Given the description of an element on the screen output the (x, y) to click on. 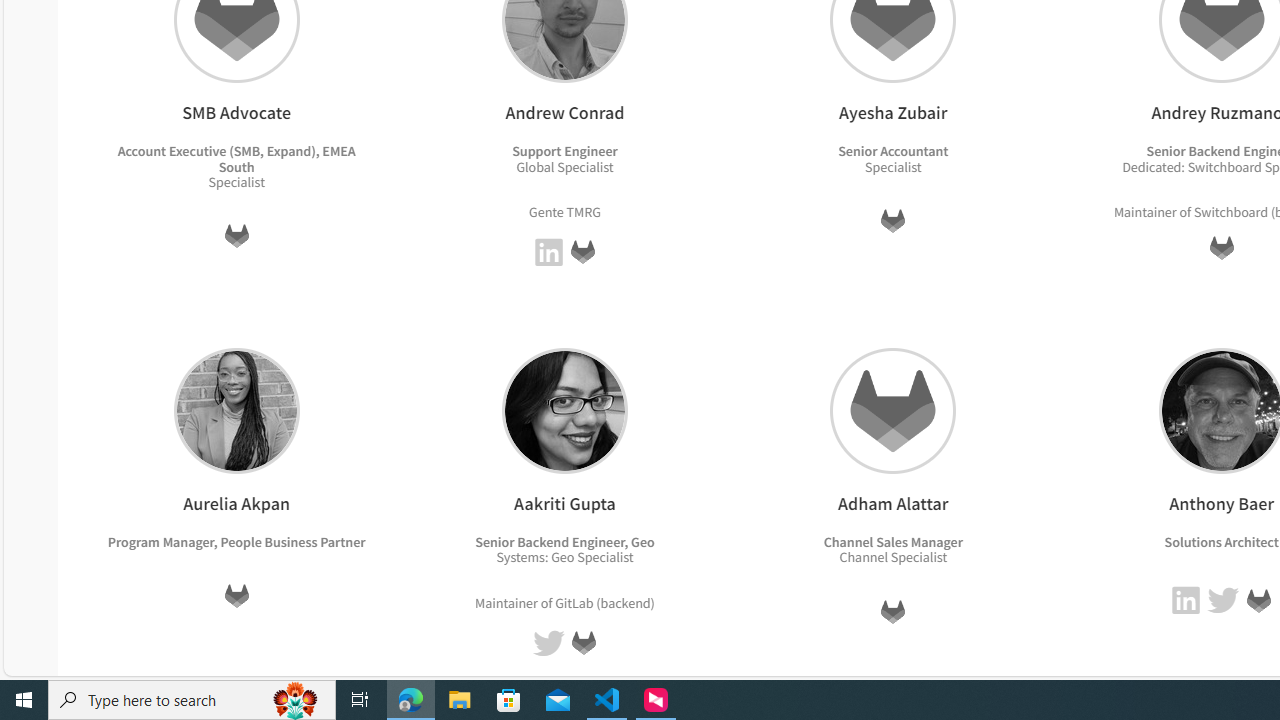
Gente TMRG (564, 210)
Switchboard (1230, 211)
GitLab (1257, 600)
Solutions Architect (1220, 541)
Senior Accountant (893, 151)
Maintainer (505, 602)
